Given the description of an element on the screen output the (x, y) to click on. 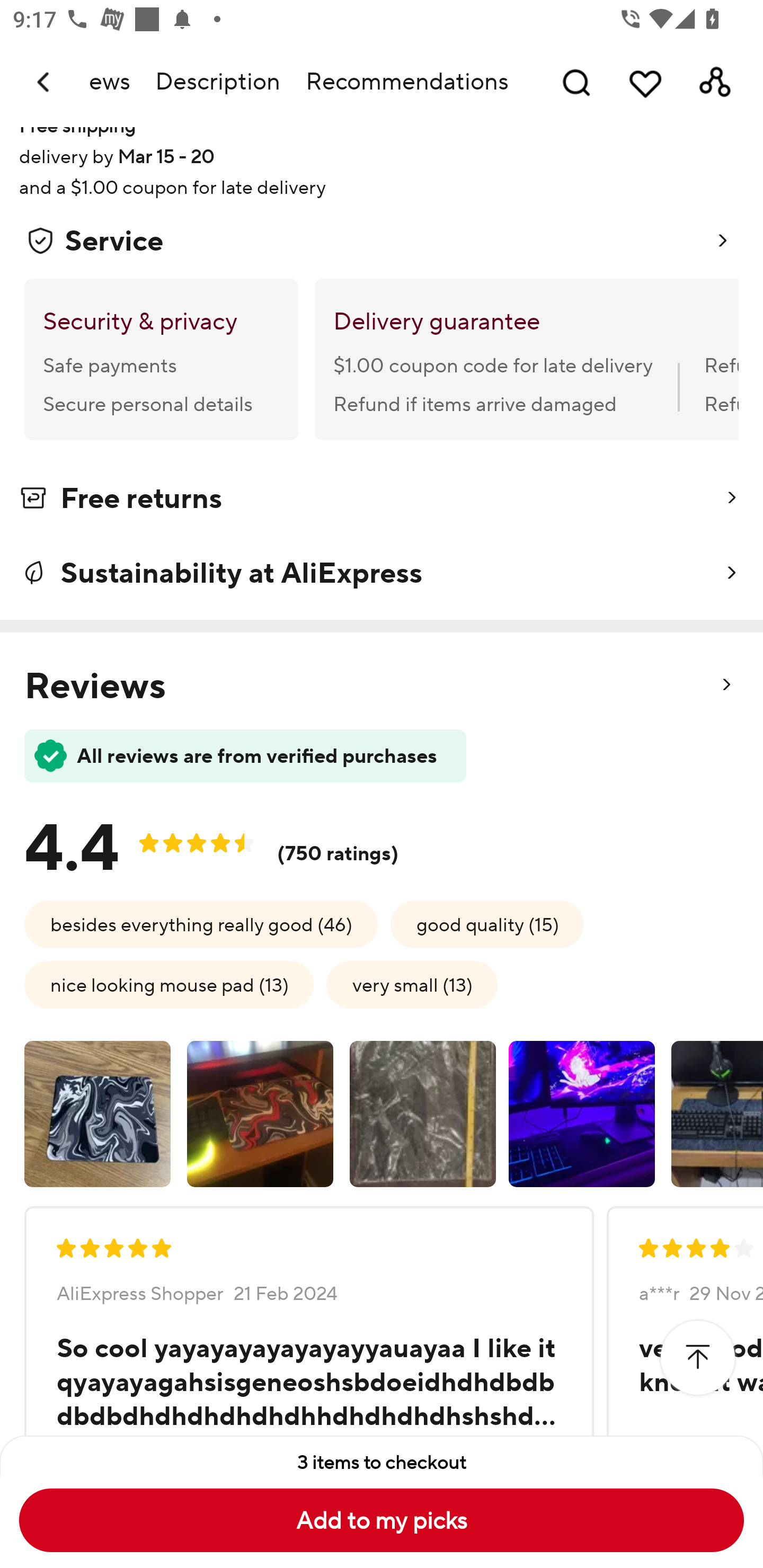
Navigate up (44, 82)
Description (217, 81)
Recommendations (406, 81)
Free returns  (381, 500)
Sustainability at AliExpress  (381, 572)
4.4 44.0 (750 ratings) (225, 841)
besides everything really good (46) (200, 924)
good quality (15) (486, 924)
nice looking mouse pad (13) (168, 984)
very small (13) (411, 984)
 (697, 1357)
Add to my picks (381, 1520)
